Given the description of an element on the screen output the (x, y) to click on. 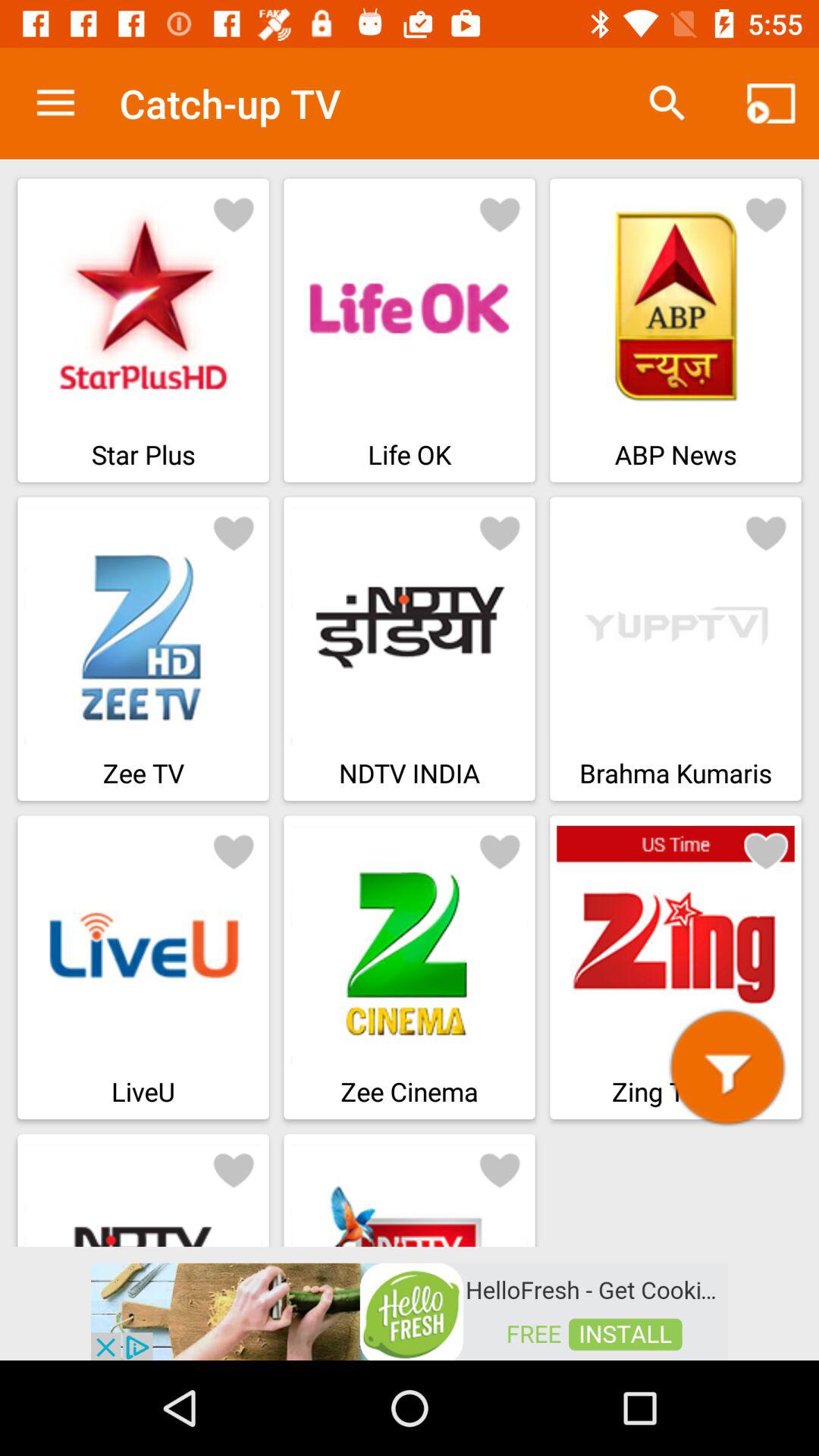
like (233, 532)
